Given the description of an element on the screen output the (x, y) to click on. 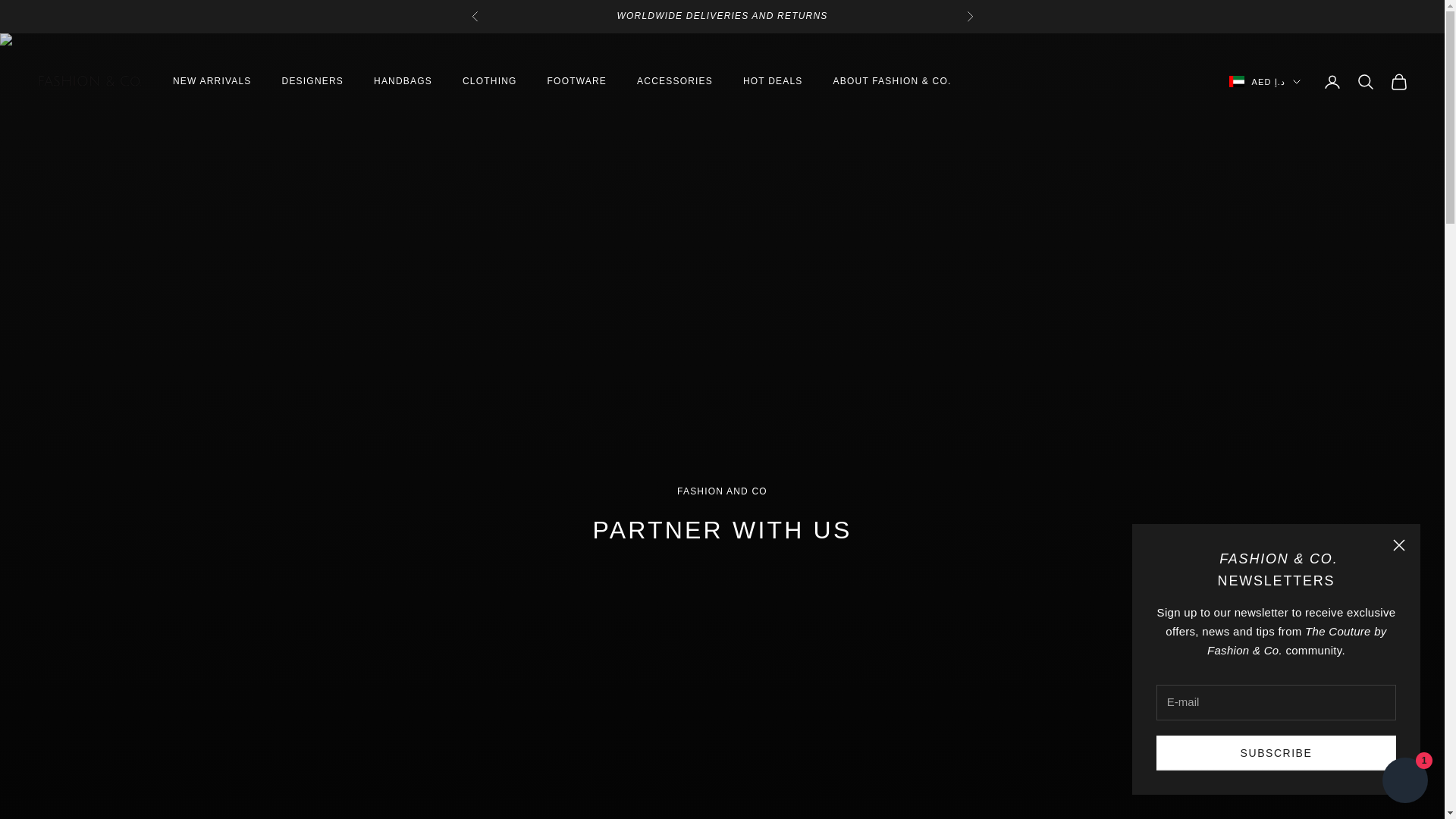
FOOTWARE (577, 80)
Open cart (1398, 81)
ACCESSORIES (675, 80)
NEW ARRIVALS (212, 80)
Open account page (1331, 81)
Shopify online store chat (1404, 781)
CLOTHING (489, 80)
Open search (1365, 81)
Newsletter popup (1276, 659)
HOT DEALS (772, 80)
HANDBAGS (403, 80)
